Given the description of an element on the screen output the (x, y) to click on. 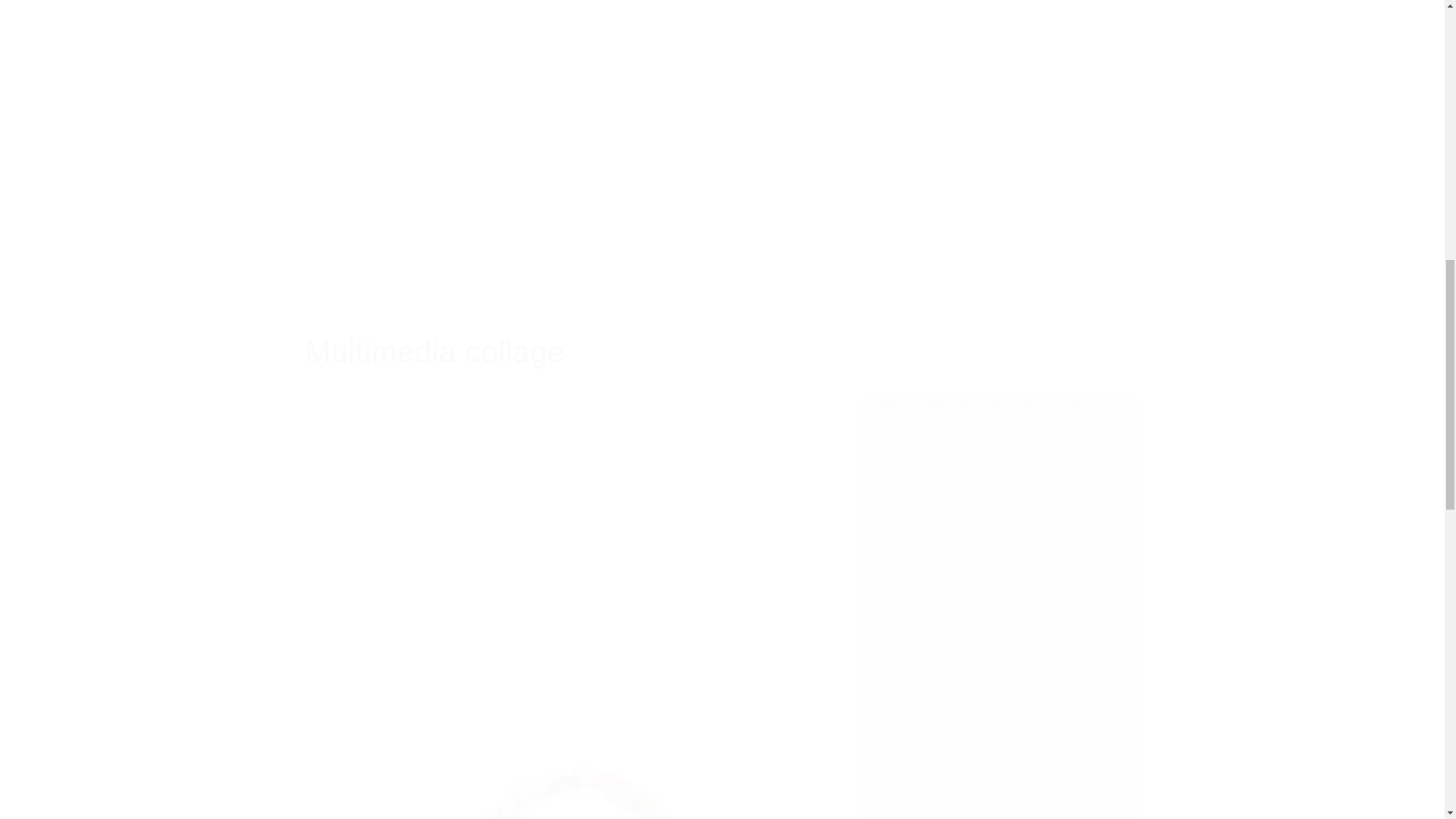
Multimedia collage (721, 351)
